Given the description of an element on the screen output the (x, y) to click on. 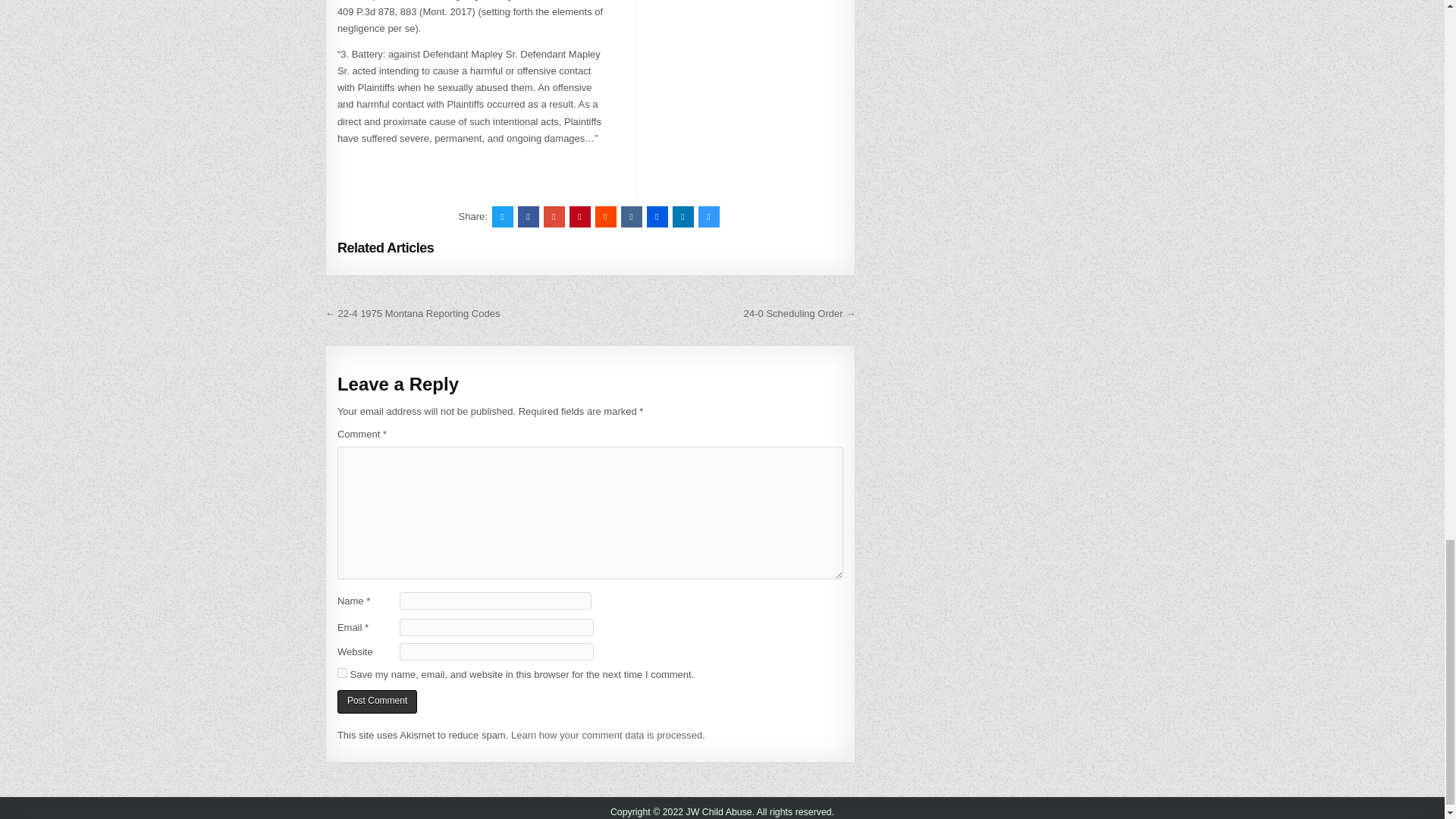
Share this on Reddit (604, 216)
Learn how your comment data is processed (606, 735)
Share this on Facebook (527, 216)
Share this on VK (631, 216)
Share this on Digg (656, 216)
Post Comment (376, 701)
Post Comment (376, 701)
yes (342, 673)
Tweet This! (502, 216)
Share this on Pinterest (579, 216)
